Given the description of an element on the screen output the (x, y) to click on. 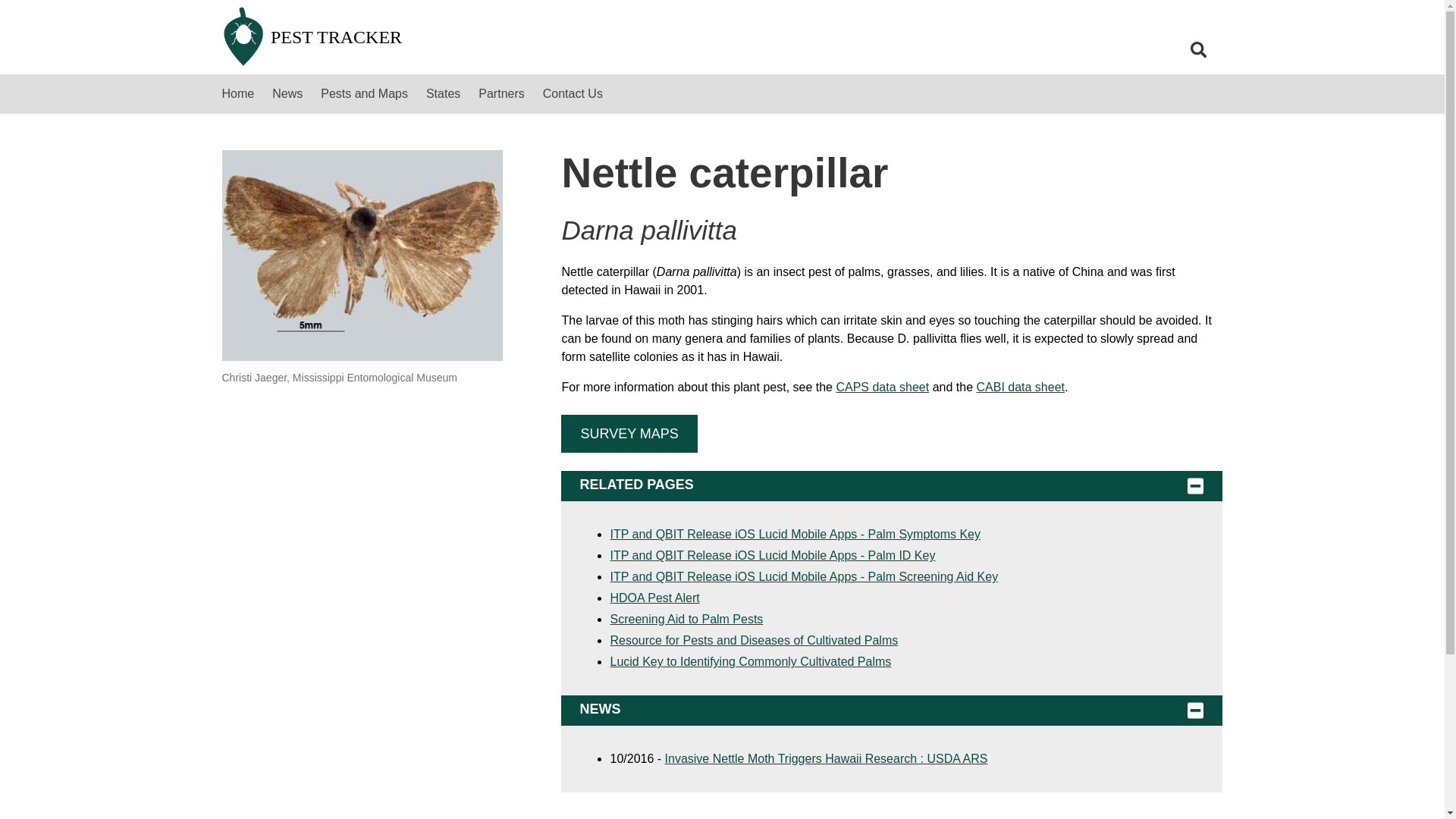
CABI data sheet (1019, 386)
Pests and Maps (363, 93)
PEST TRACKER (491, 37)
Contact Us (572, 93)
Home (237, 93)
SURVEY MAPS (628, 433)
Invasive Nettle Moth Triggers Hawaii Research : USDA ARS (826, 758)
CAPS data sheet (881, 386)
HDOA Pest Alert (654, 597)
